Given the description of an element on the screen output the (x, y) to click on. 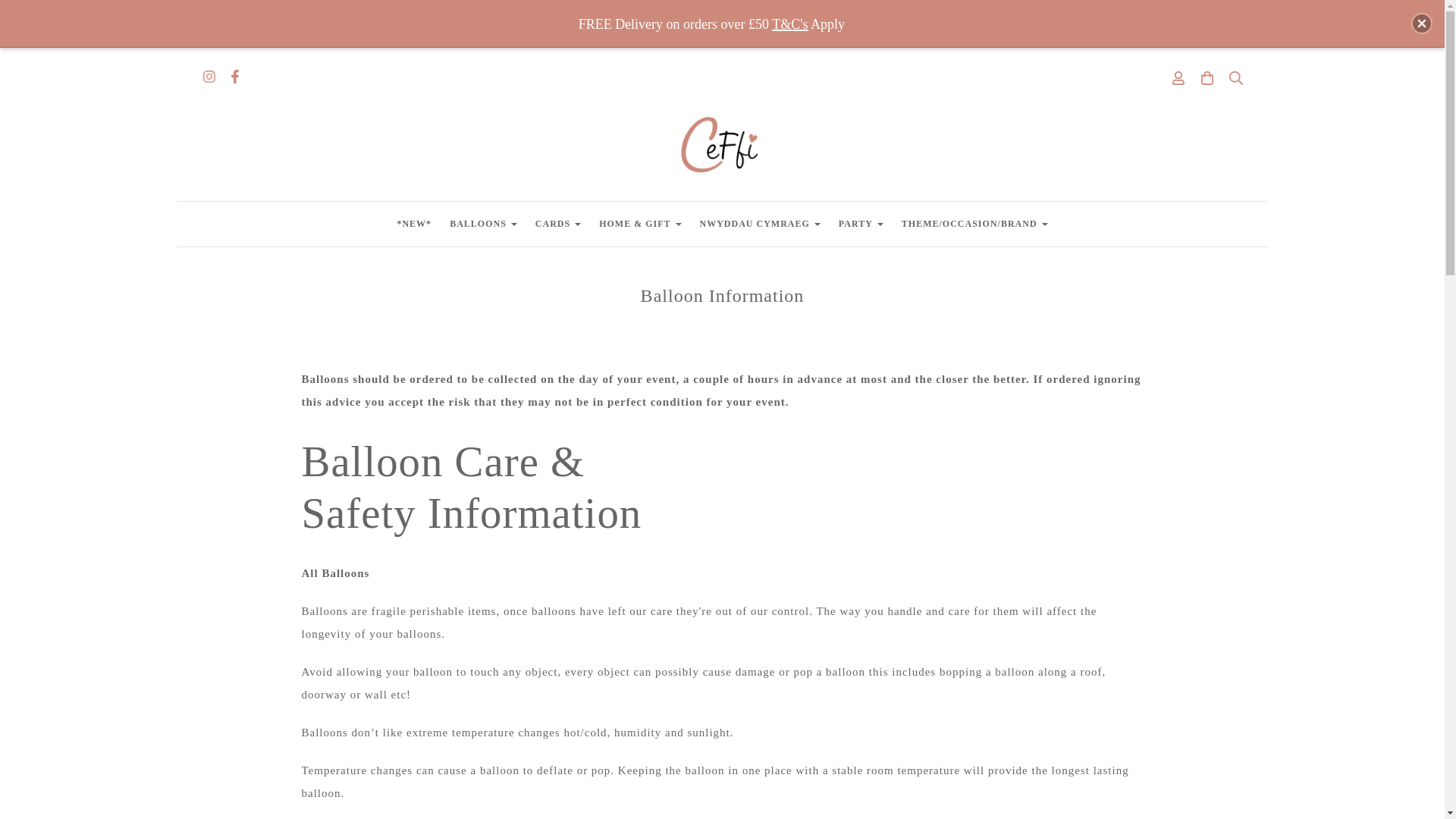
Close (1421, 23)
facebook (234, 78)
CARDS (557, 224)
instagram (208, 78)
BALLOONS (483, 224)
